Given the description of an element on the screen output the (x, y) to click on. 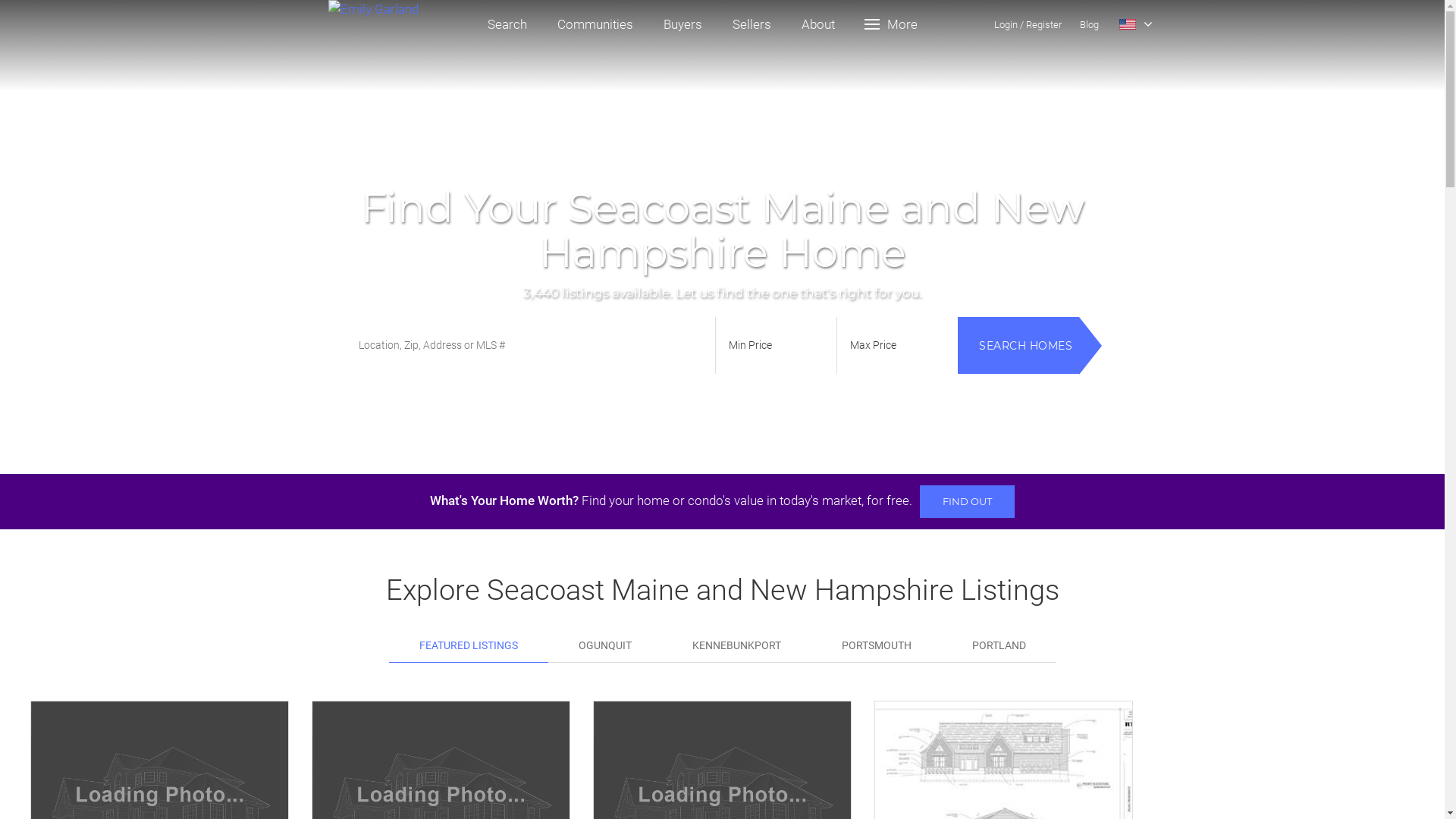
Buyers Element type: text (681, 24)
Login/ Element type: text (1009, 24)
More Element type: text (891, 24)
Select Language Element type: hover (1135, 24)
FIND OUT Element type: text (966, 501)
Enter Location, Zip, Address or MLS # Element type: hover (528, 344)
About Element type: text (817, 24)
Communities Element type: text (594, 24)
Sellers Element type: text (751, 24)
Blog Element type: text (1088, 24)
Register Element type: text (1042, 24)
Search Element type: text (506, 24)
SEARCH HOMES Element type: text (1017, 344)
